Given the description of an element on the screen output the (x, y) to click on. 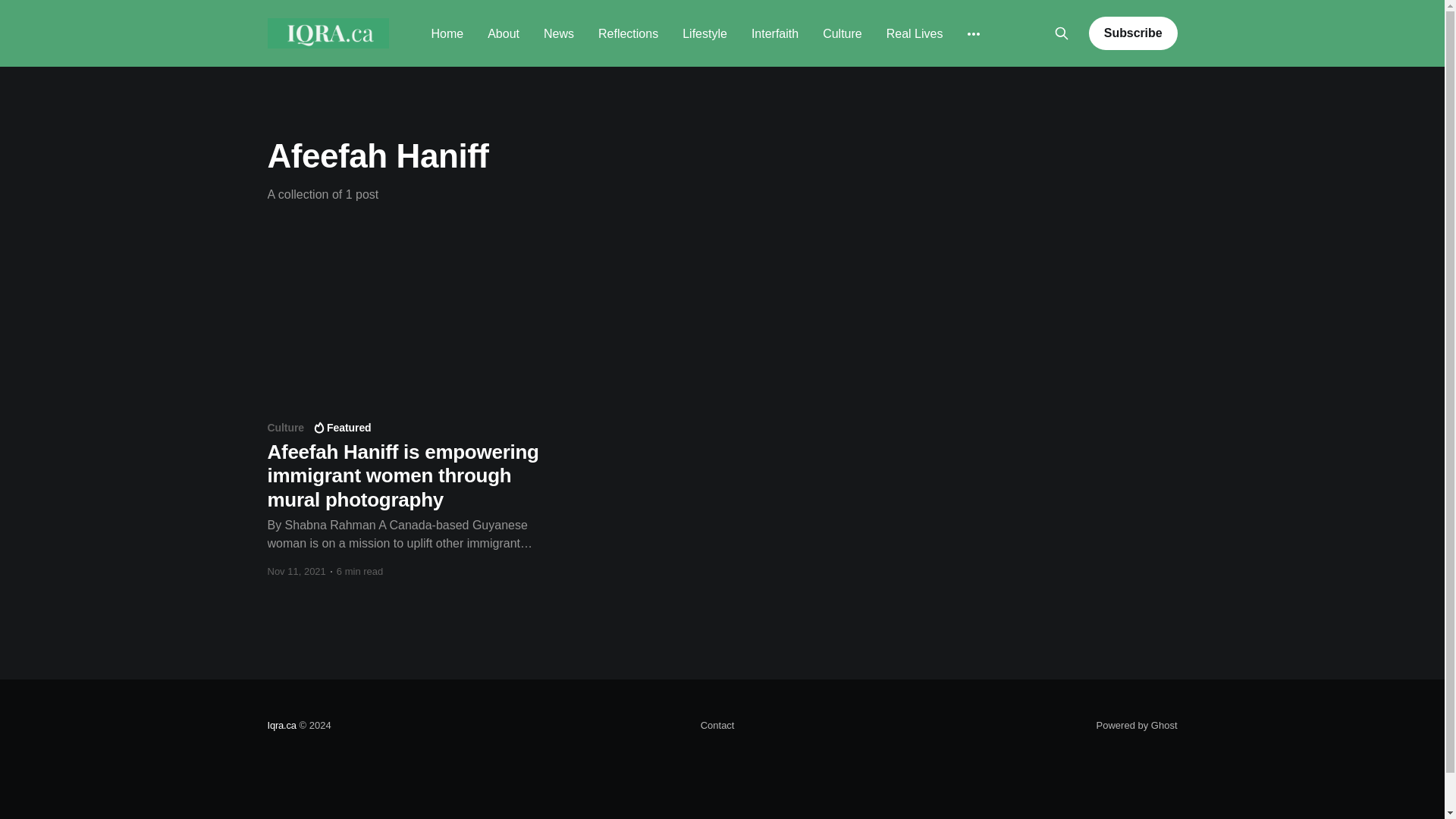
Contact (717, 725)
Iqra.ca (280, 725)
News (558, 33)
Home (446, 33)
Powered by Ghost (1136, 725)
Culture (841, 33)
Subscribe (1133, 32)
Lifestyle (704, 33)
Reflections (628, 33)
About (503, 33)
Real Lives (914, 33)
Interfaith (774, 33)
